Given the description of an element on the screen output the (x, y) to click on. 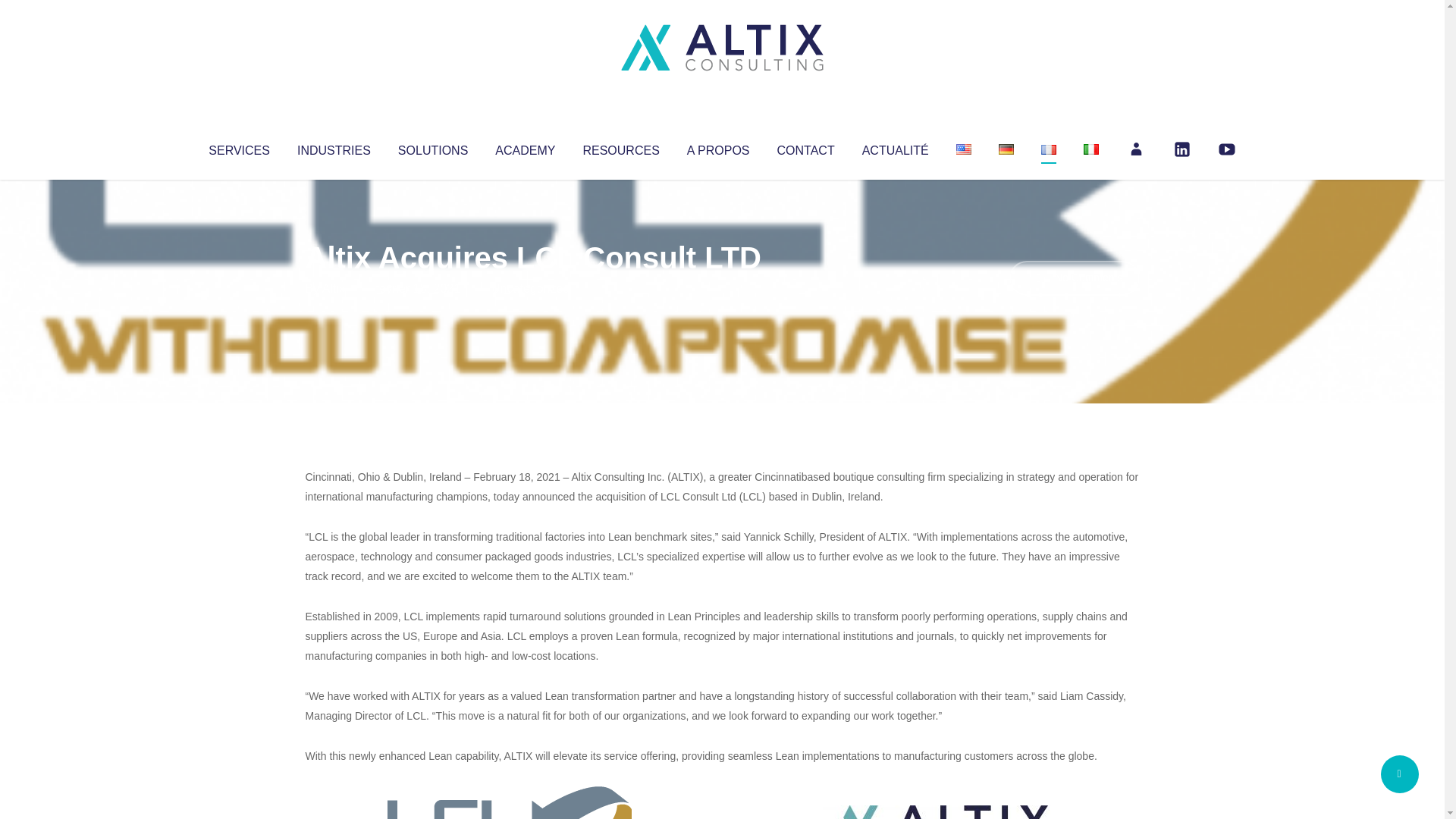
ACADEMY (524, 146)
INDUSTRIES (334, 146)
Articles par Altix (333, 287)
Uncategorized (530, 287)
Altix (333, 287)
SOLUTIONS (432, 146)
RESOURCES (620, 146)
No Comments (1073, 278)
SERVICES (238, 146)
A PROPOS (718, 146)
